Given the description of an element on the screen output the (x, y) to click on. 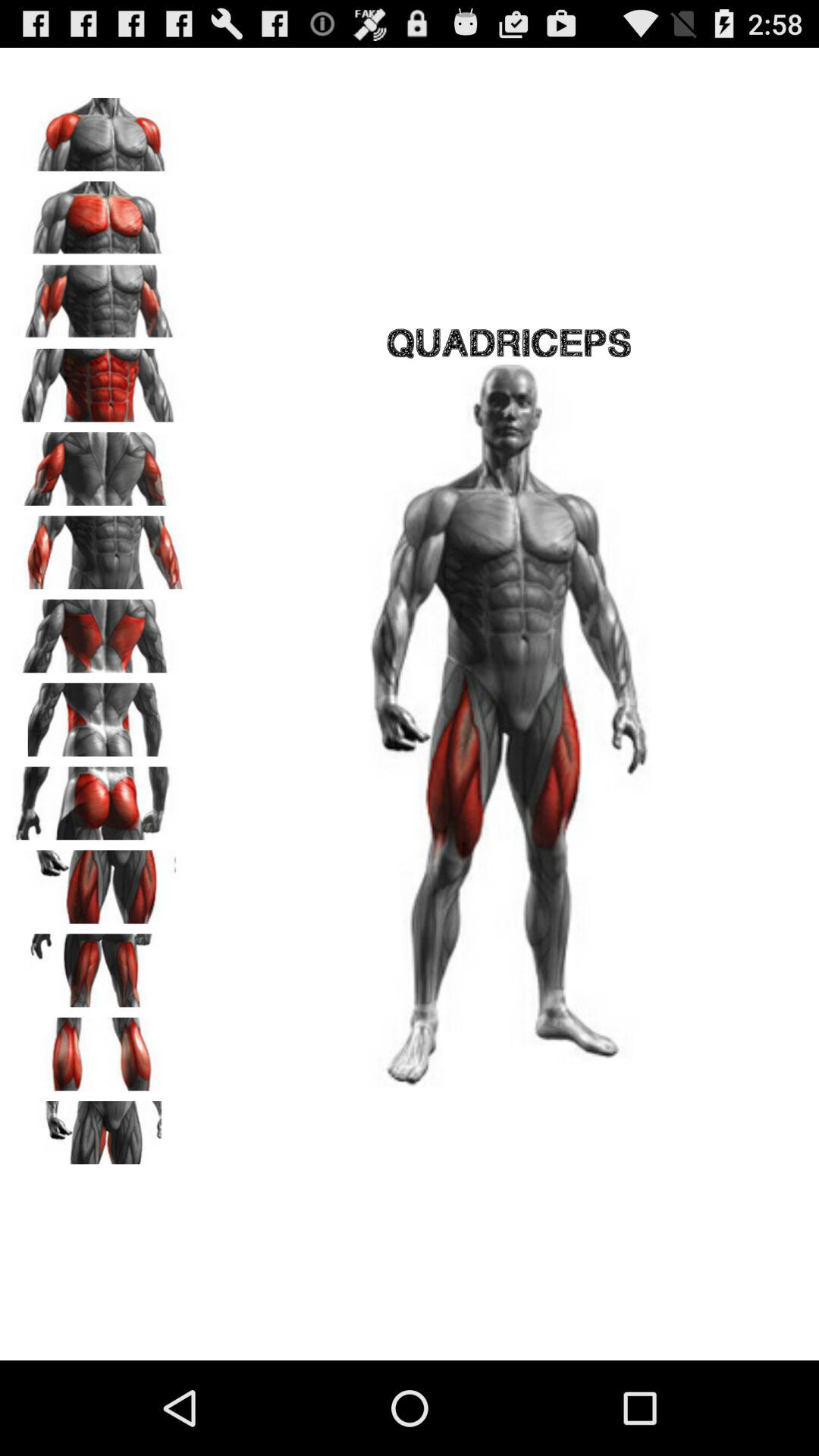
find exercises for glutes (99, 798)
